Given the description of an element on the screen output the (x, y) to click on. 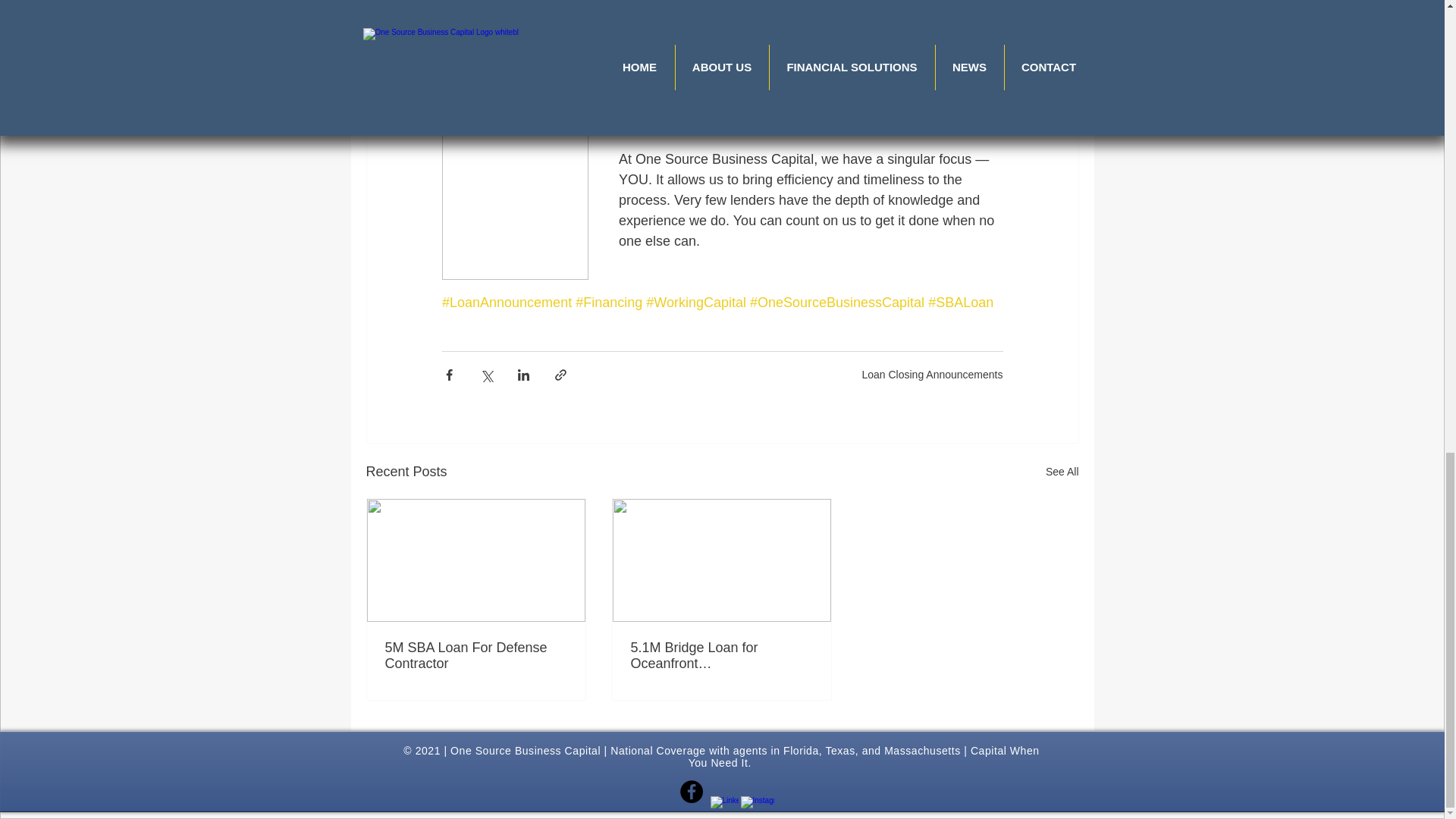
See All (1061, 472)
5M SBA Loan For Defense Contractor (476, 655)
www.osbcapital.com (568, 55)
Loan Closing Announcements (932, 373)
